Given the description of an element on the screen output the (x, y) to click on. 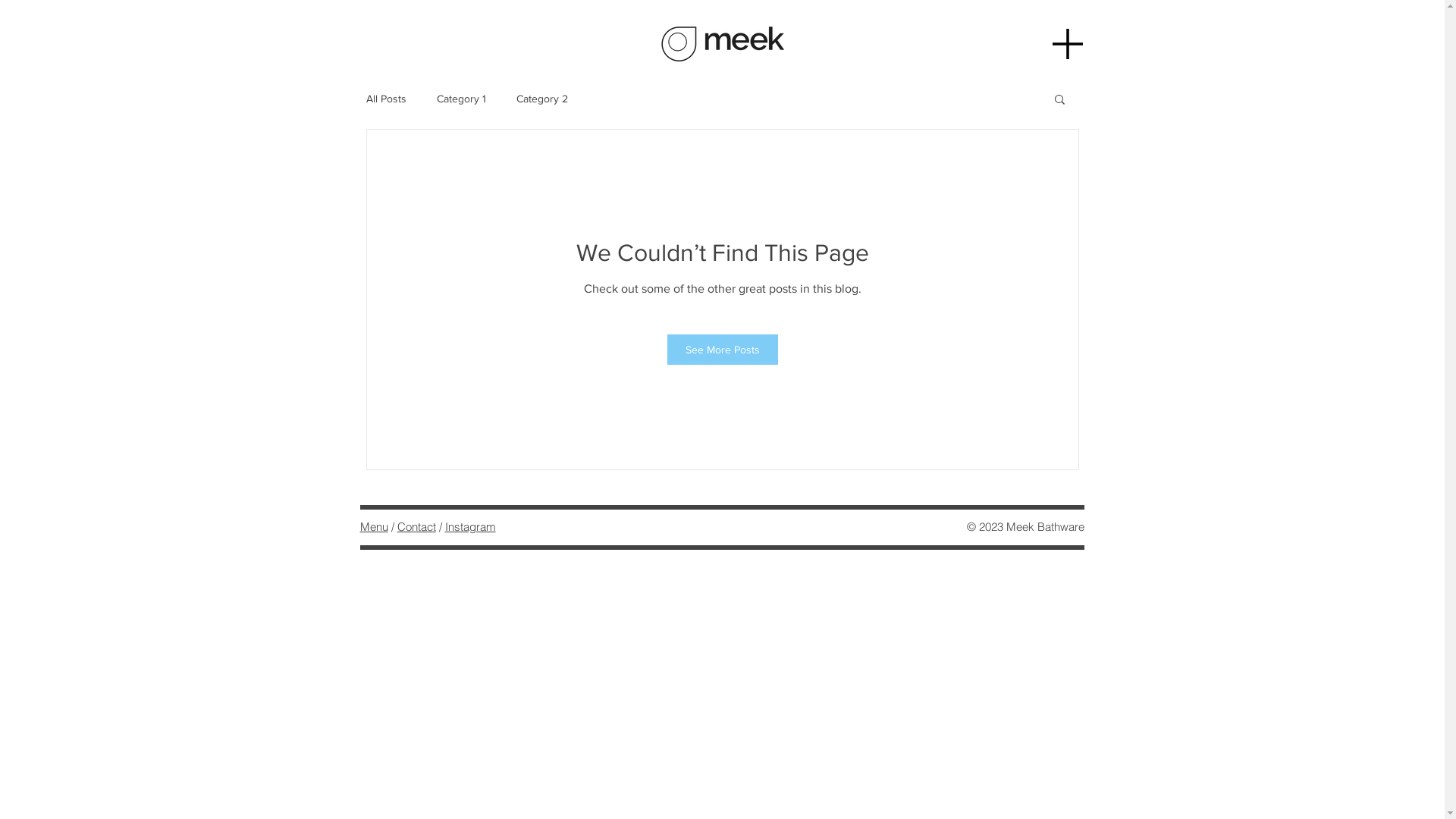
All Posts Element type: text (385, 98)
Menu Element type: text (373, 526)
Instagram Element type: text (469, 526)
Category 1 Element type: text (461, 98)
See More Posts Element type: text (722, 349)
Contact Element type: text (416, 526)
  Element type: text (442, 526)
Category 2 Element type: text (541, 98)
